Given the description of an element on the screen output the (x, y) to click on. 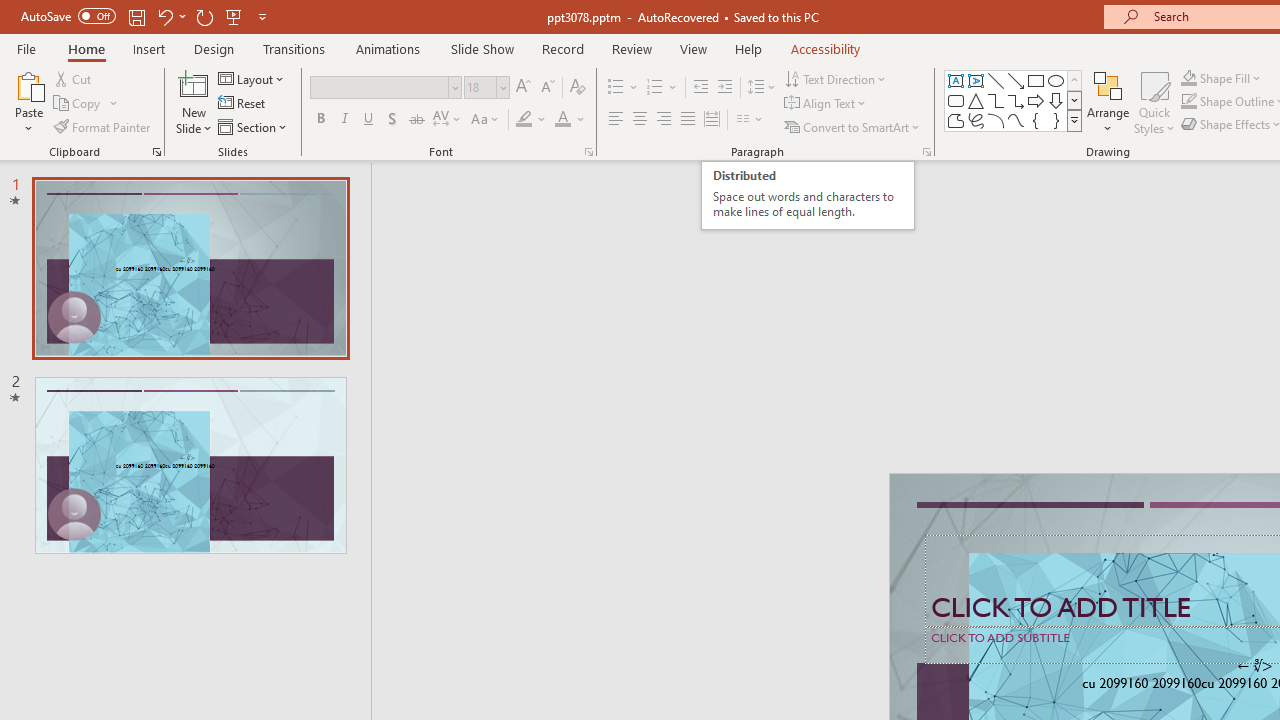
Shape Outline Green, Accent 1 (1188, 101)
